Given the description of an element on the screen output the (x, y) to click on. 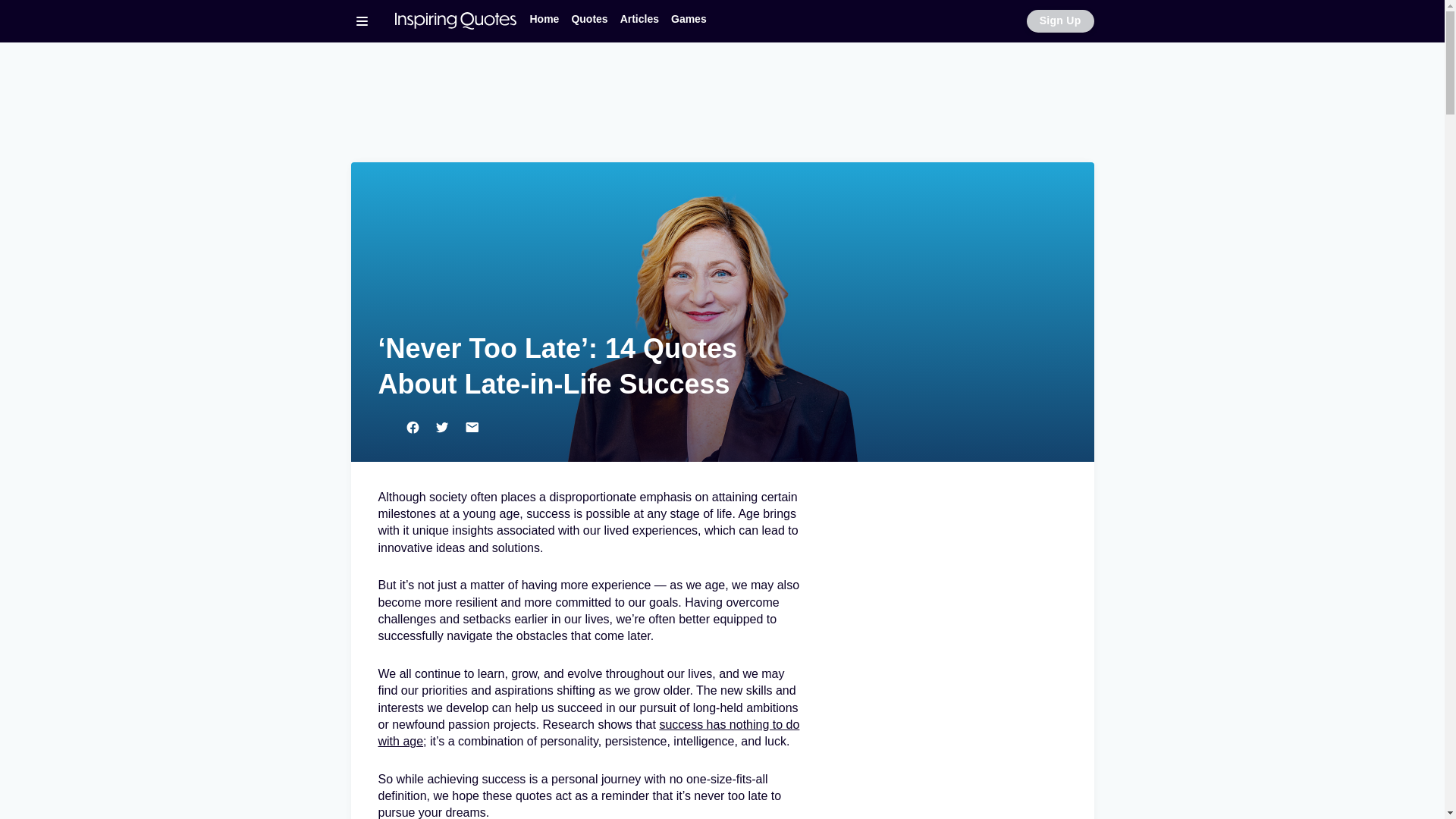
Quotes (588, 19)
Sign Up (1060, 20)
Home (543, 19)
success has nothing to do with age (588, 732)
Games (689, 19)
Articles (639, 19)
